Given the description of an element on the screen output the (x, y) to click on. 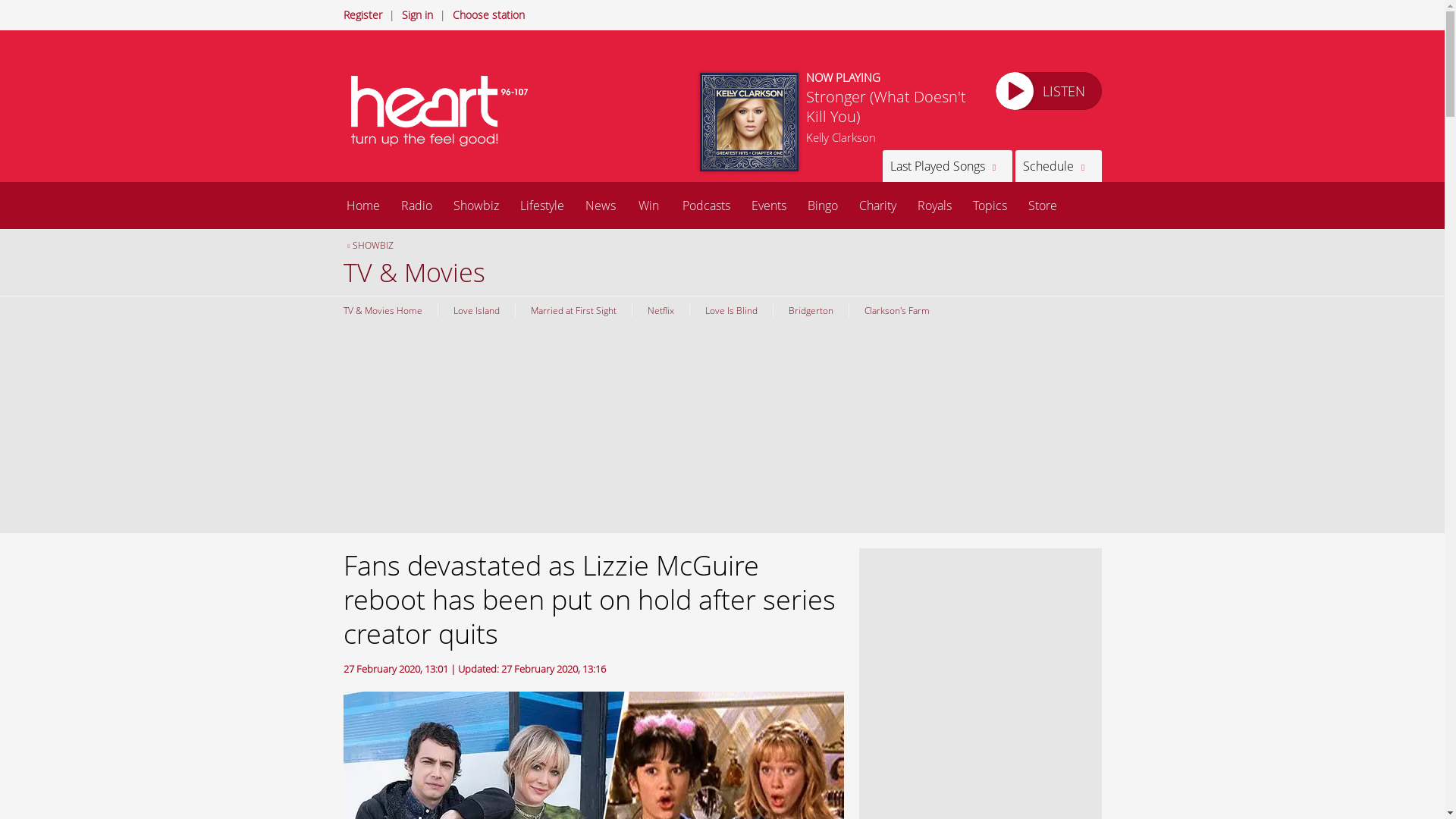
Radio (416, 205)
LISTEN (1047, 90)
Choose station (487, 14)
Love Island (474, 309)
Heart (441, 111)
Lifestyle (542, 205)
Love Is Blind (729, 309)
Topics (988, 205)
Married at First Sight (571, 309)
Charity (876, 205)
